Given the description of an element on the screen output the (x, y) to click on. 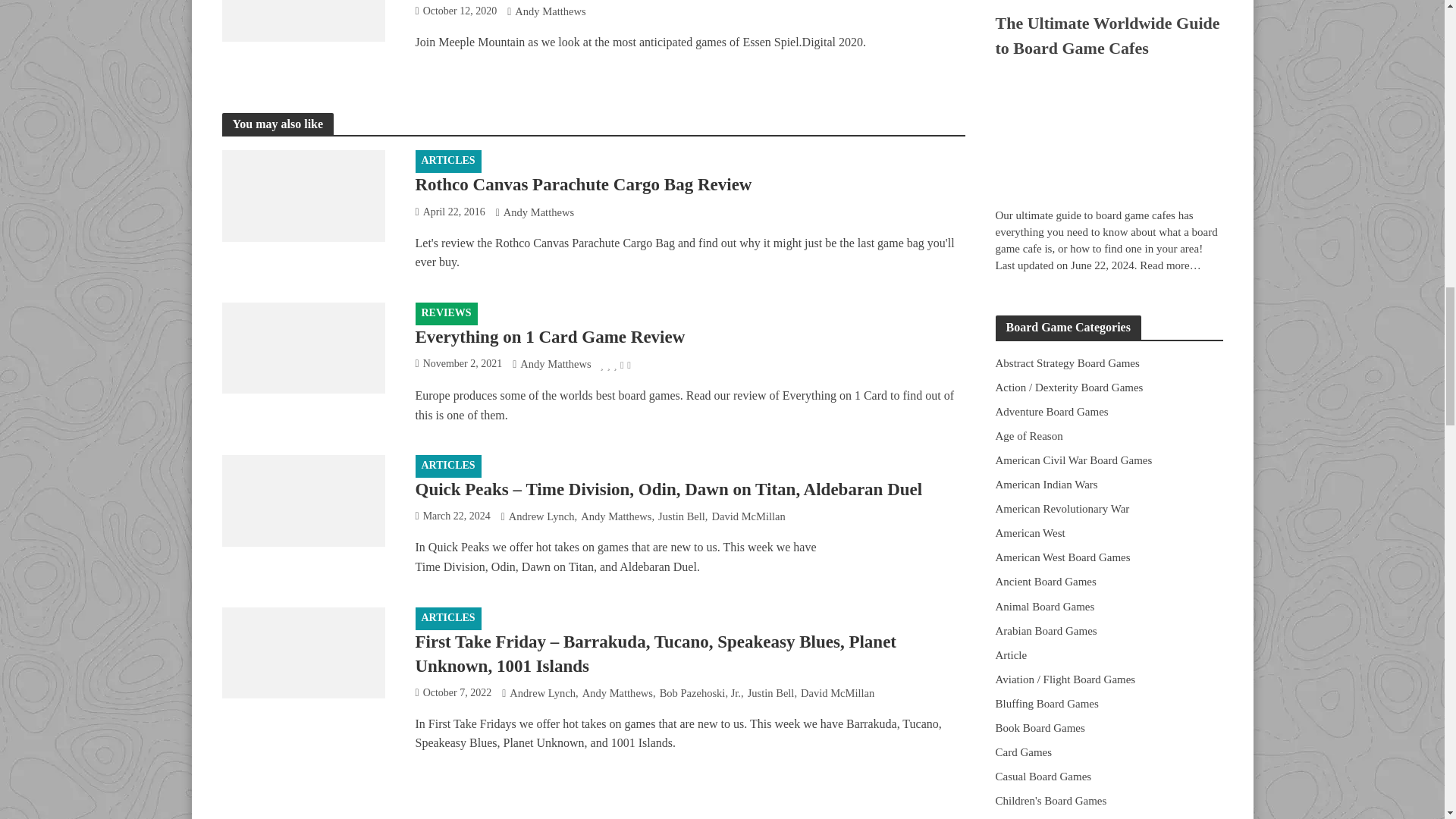
Everything on 1 Card Game Review (302, 346)
Rothco Canvas Parachute Cargo Bag Review (302, 194)
